Given the description of an element on the screen output the (x, y) to click on. 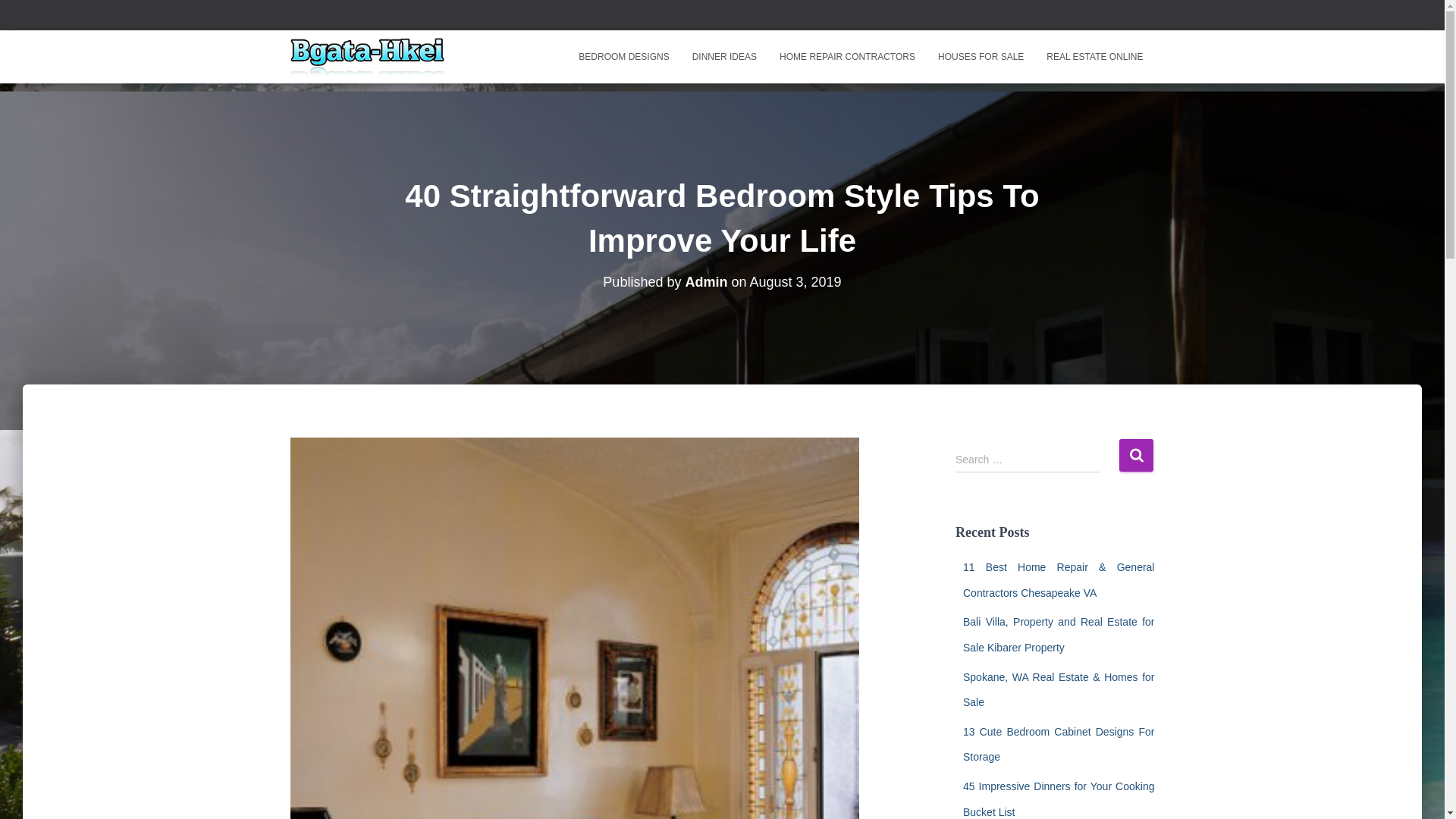
Search (1136, 454)
Bgata Hkei (367, 56)
45 Impressive Dinners for Your Cooking Bucket List (1058, 799)
HOUSES FOR SALE (980, 56)
DINNER IDEAS (724, 56)
13 Cute Bedroom Cabinet Designs For Storage (1058, 744)
Bedroom Designs (623, 56)
Home Repair Contractors (847, 56)
Search (1136, 454)
